Given the description of an element on the screen output the (x, y) to click on. 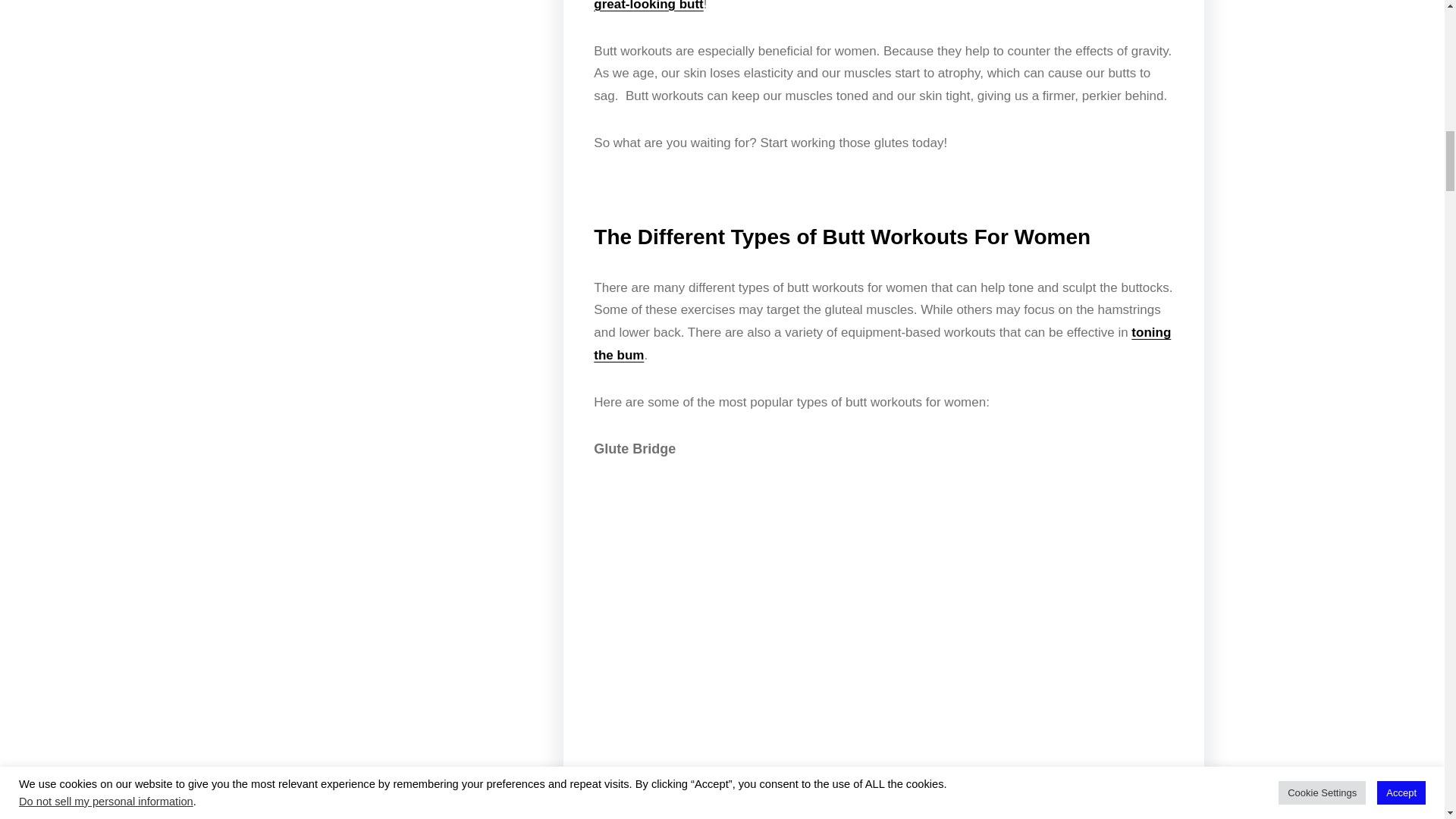
toning the bum (882, 343)
a great-looking butt (865, 5)
